Given the description of an element on the screen output the (x, y) to click on. 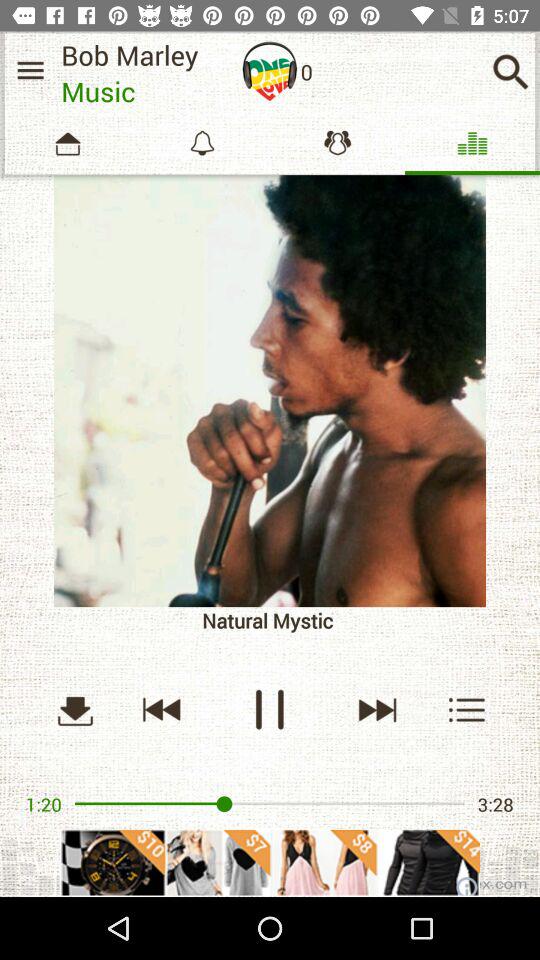
download the music (75, 709)
